Given the description of an element on the screen output the (x, y) to click on. 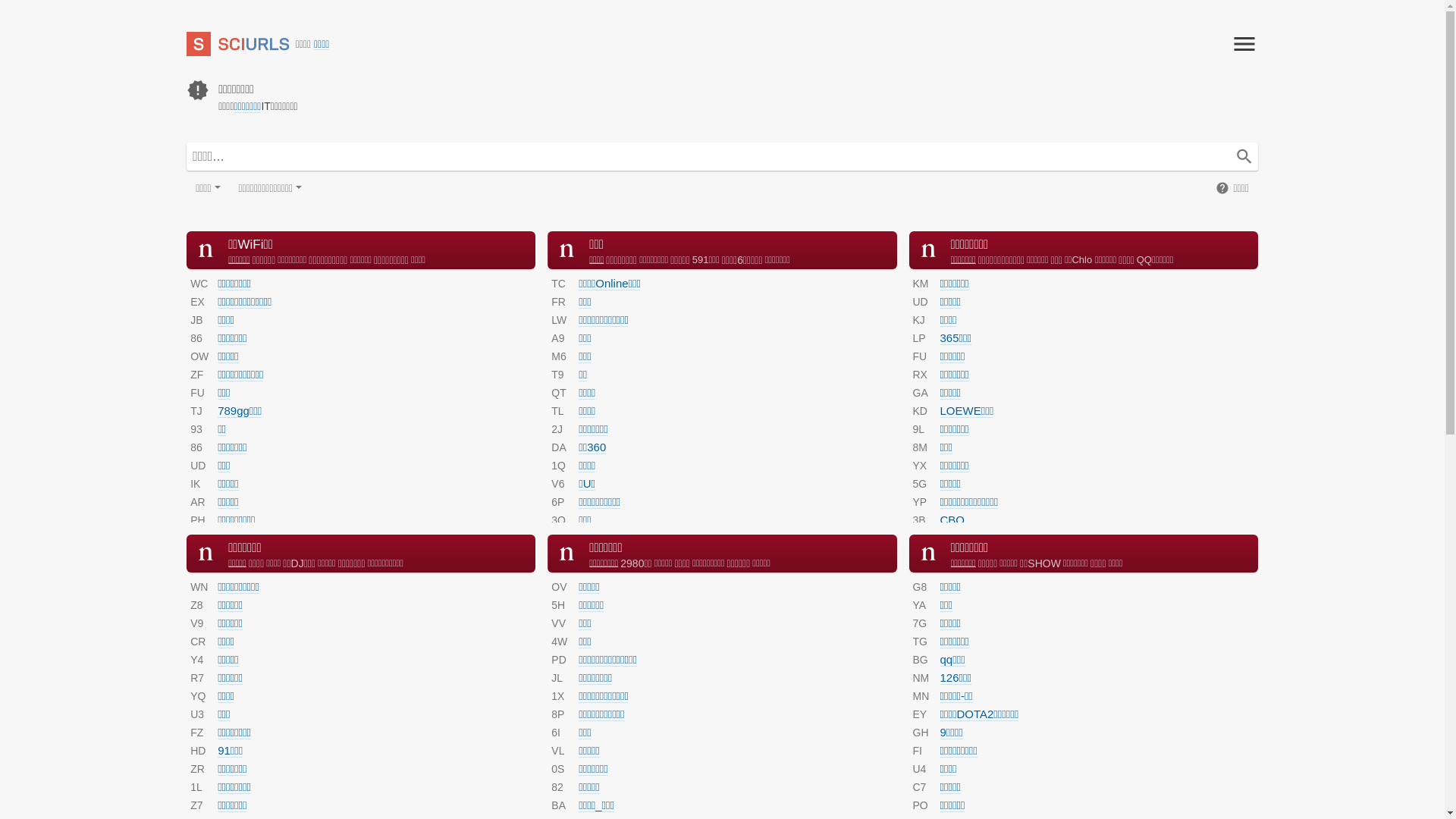
CBO Element type: text (952, 520)
